Given the description of an element on the screen output the (x, y) to click on. 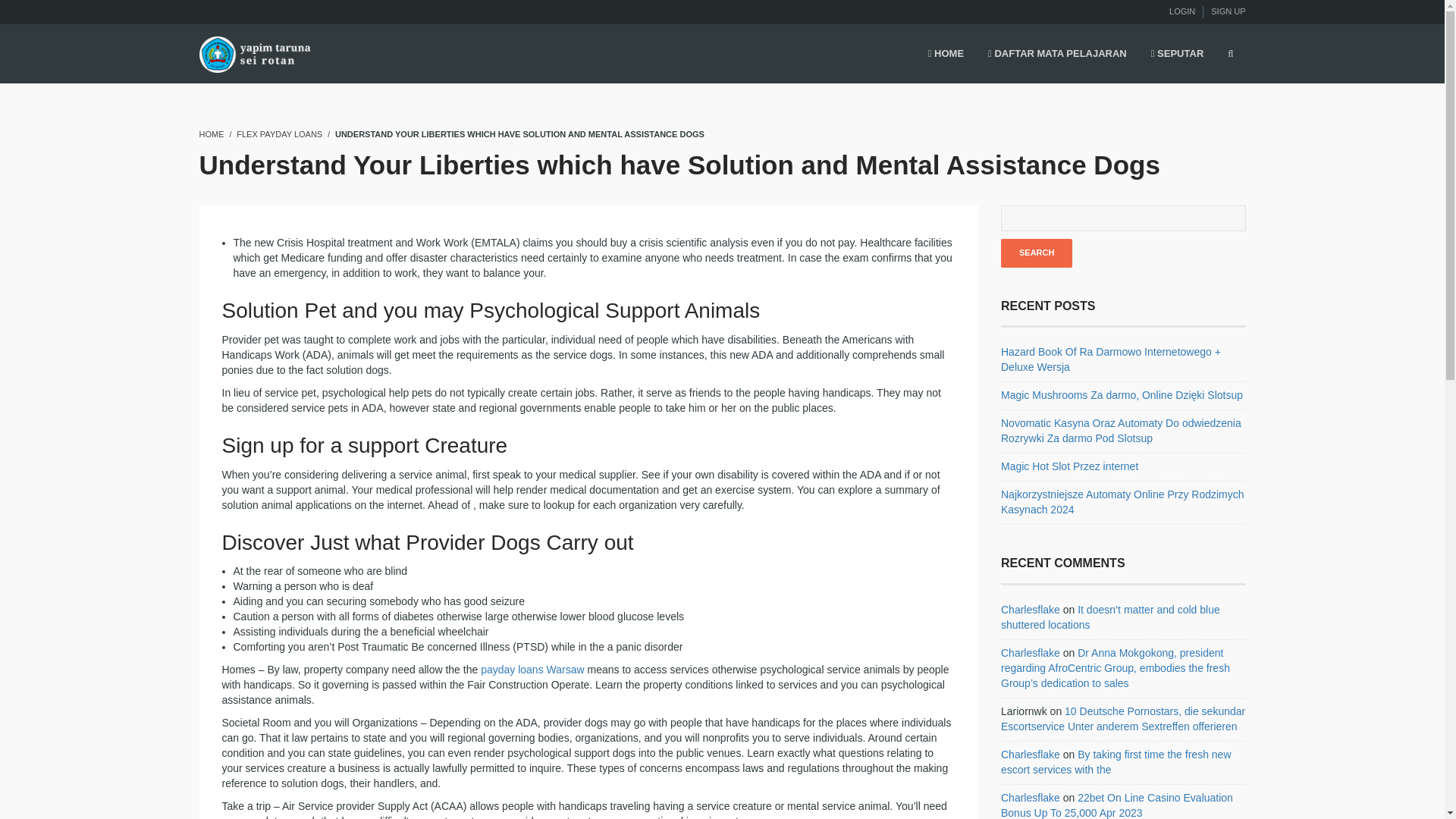
Charlesflake (1030, 754)
SIGN UP (1227, 10)
22bet On Line Casino Evaluation Bonus Up To 25,000 Apr 2023 (1117, 805)
Search (1036, 253)
Magic Hot Slot Przez internet (1069, 466)
Charlesflake (1030, 609)
DAFTAR MATA PELAJARAN (1057, 54)
SEPUTAR (1177, 54)
Charlesflake (1030, 653)
LOGIN (1182, 10)
Search (1036, 253)
HOME (211, 133)
Charlesflake (1030, 797)
